Given the description of an element on the screen output the (x, y) to click on. 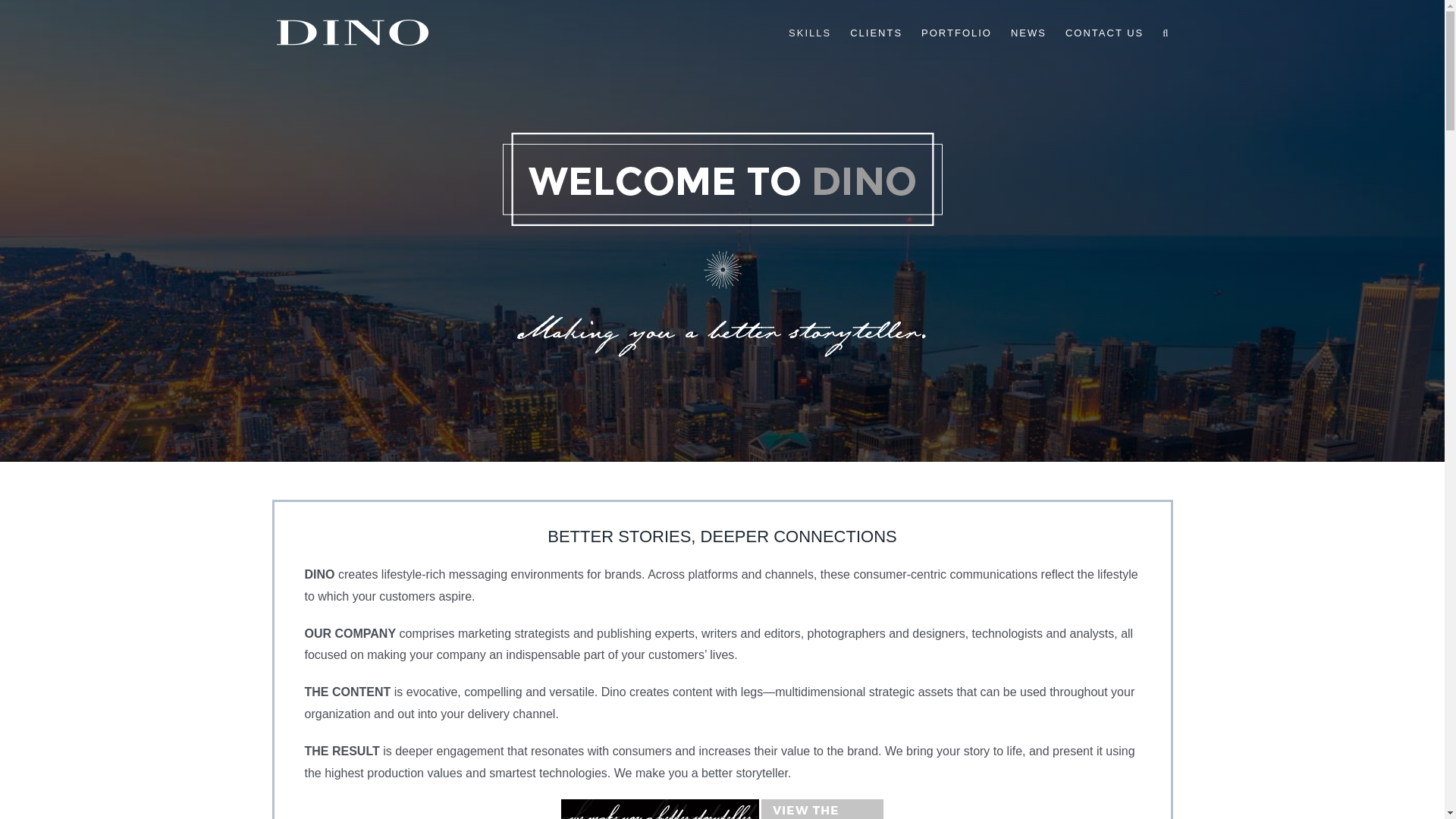
CLIENTS (876, 32)
WelcomeToDino-Intro (722, 247)
